Given the description of an element on the screen output the (x, y) to click on. 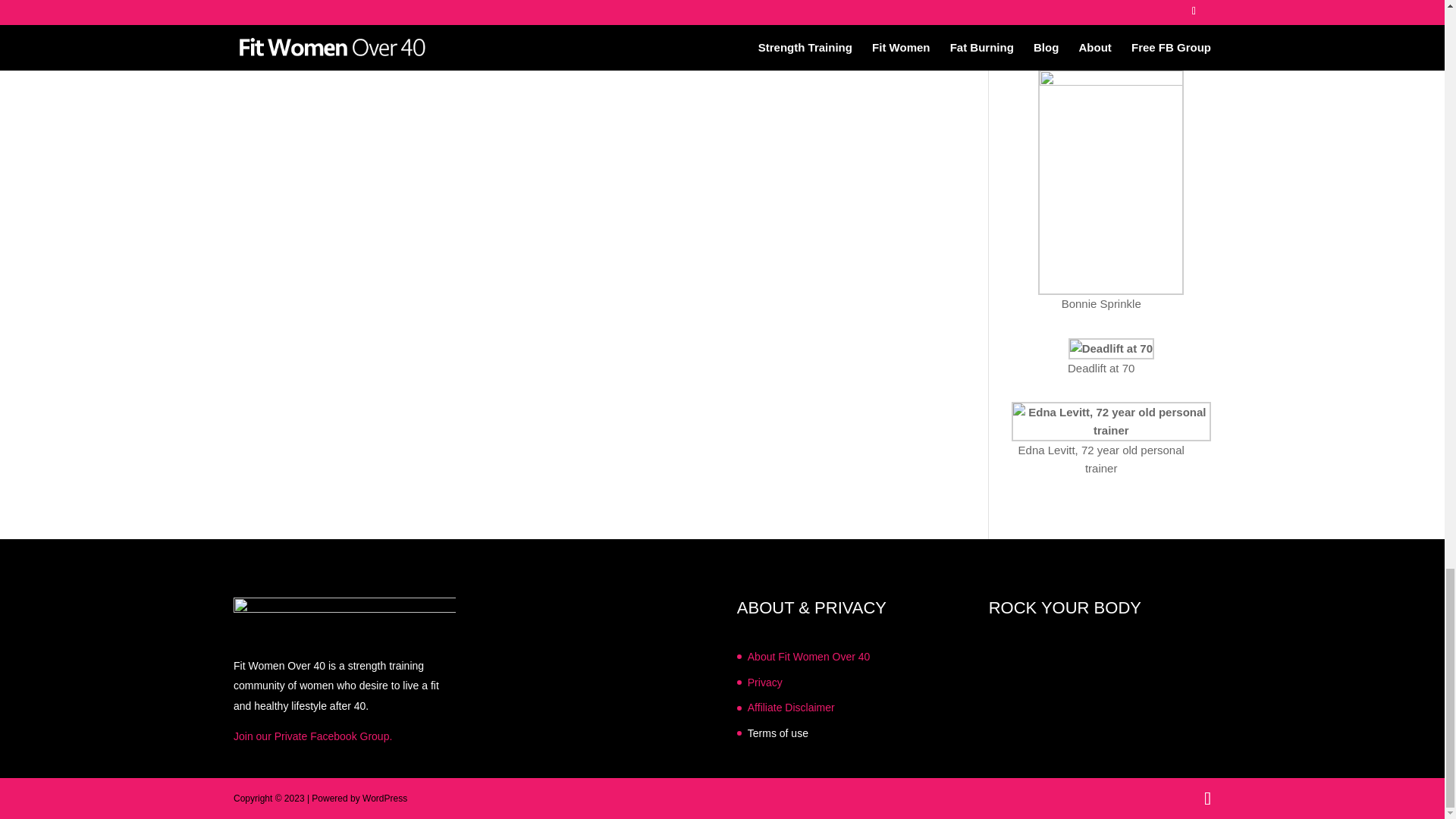
About Fit Women Over 40 (809, 656)
Join our Private Facebook Group. (311, 736)
Affiliate Disclaimer (791, 707)
Privacy (765, 682)
